Given the description of an element on the screen output the (x, y) to click on. 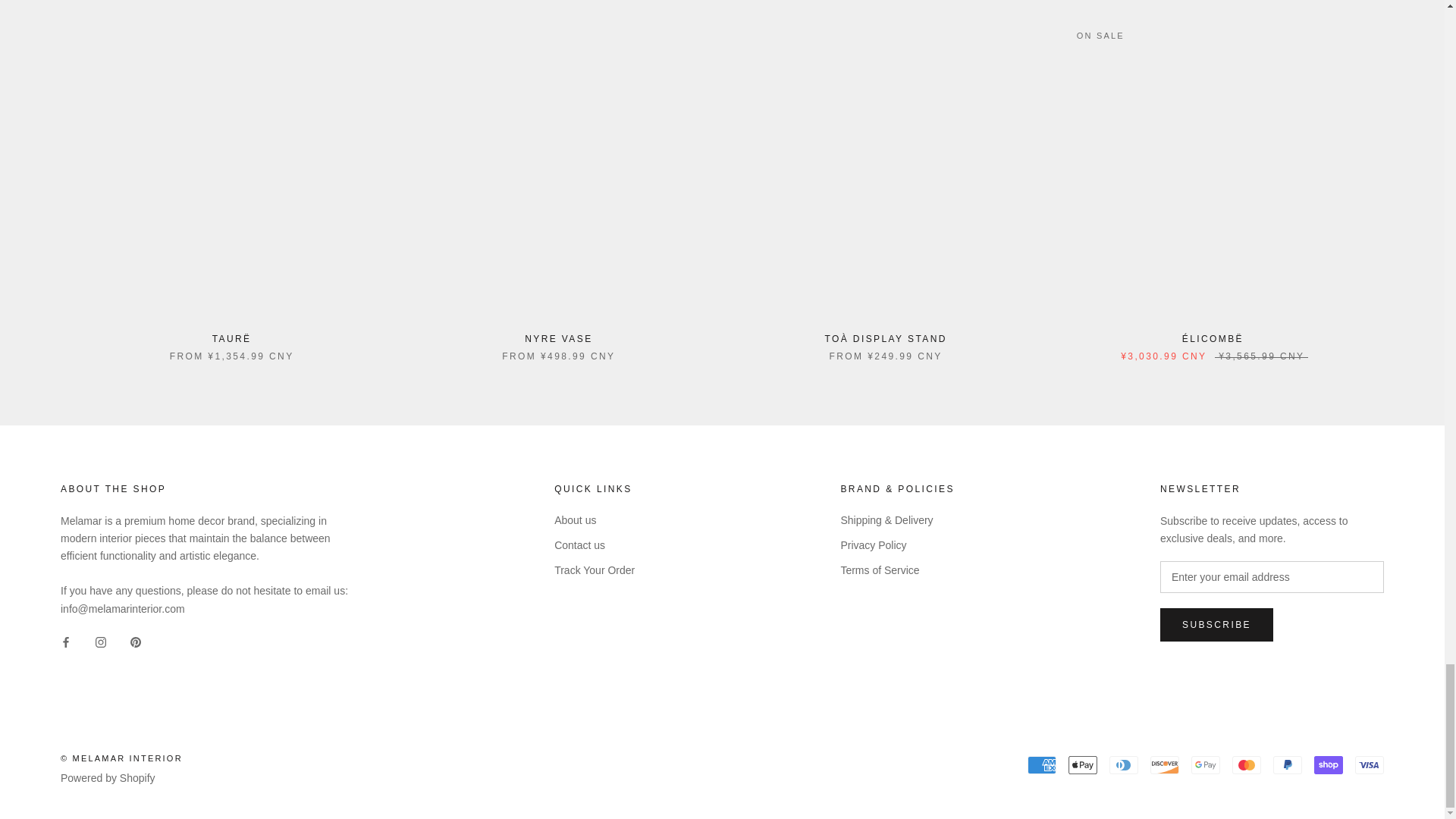
Shop Pay (1328, 764)
Visa (1369, 764)
Diners Club (1123, 764)
Discover (1164, 764)
Mastercard (1245, 764)
PayPal (1286, 764)
American Express (1042, 764)
Google Pay (1205, 764)
Apple Pay (1082, 764)
